Given the description of an element on the screen output the (x, y) to click on. 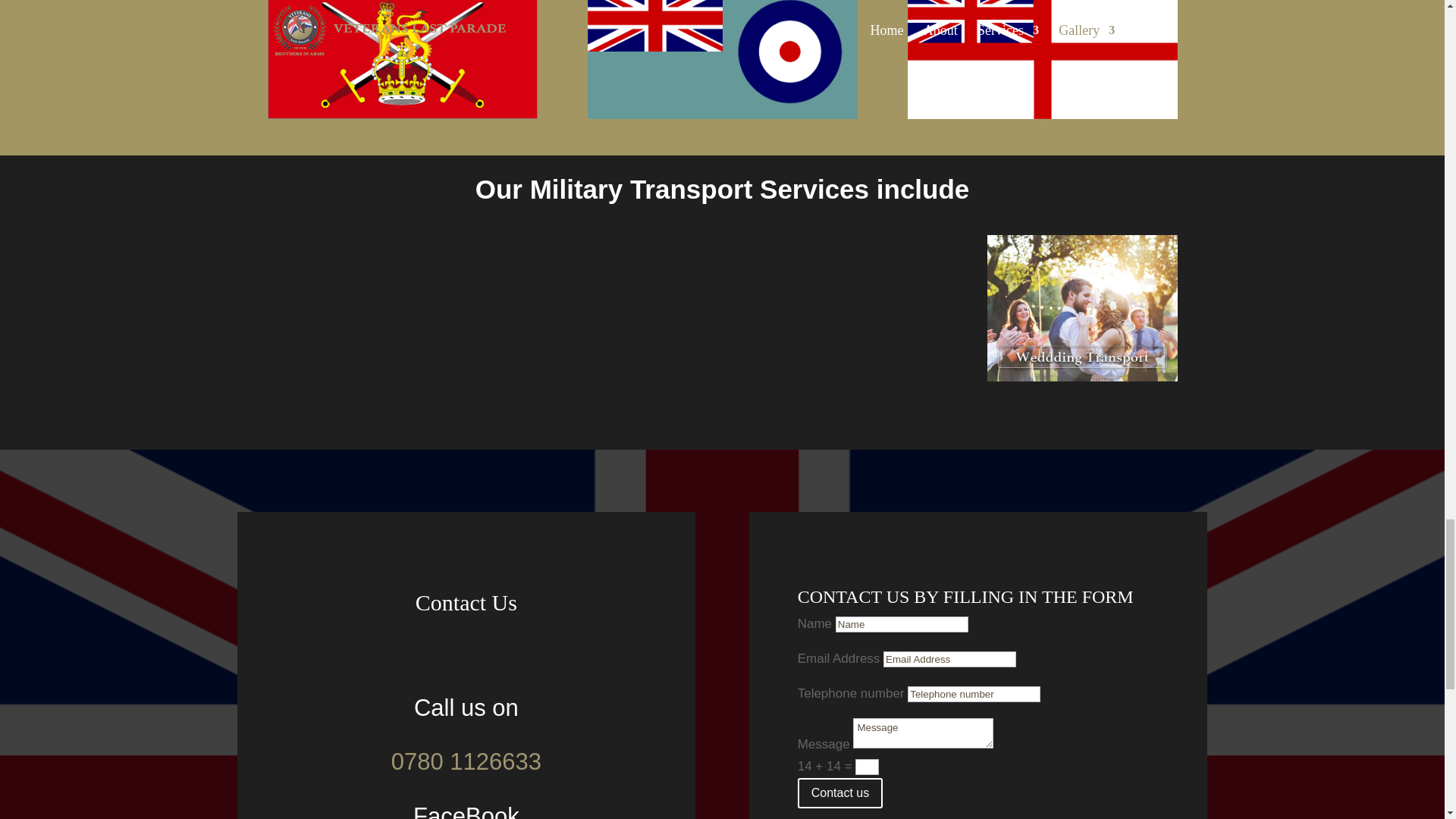
Only numbers allowed. (974, 693)
Contact us (839, 793)
0780 1126633 (466, 761)
Wedding-Transport (1082, 308)
